Given the description of an element on the screen output the (x, y) to click on. 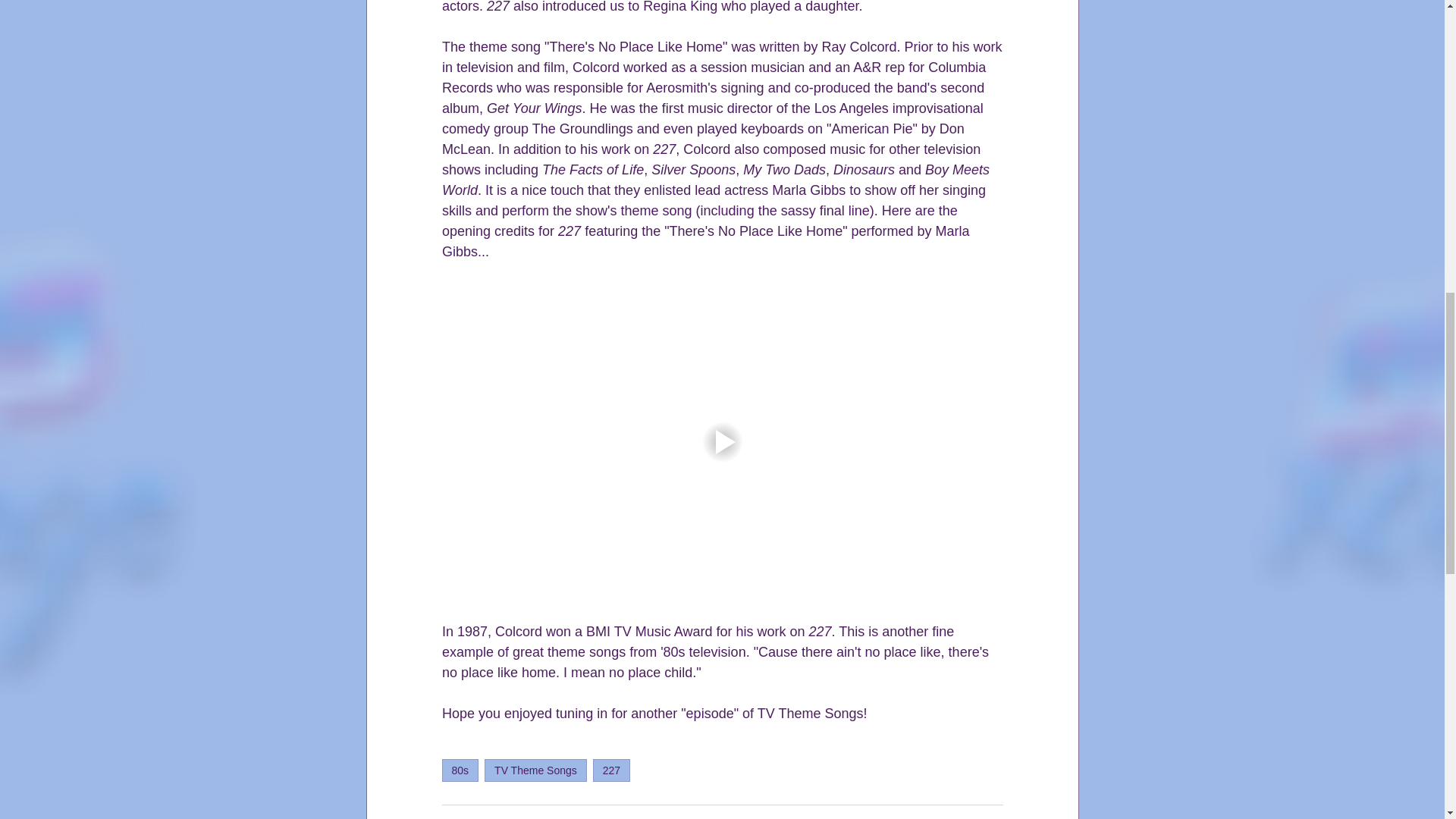
227 (611, 770)
80s (460, 770)
TV Theme Songs (535, 770)
